Given the description of an element on the screen output the (x, y) to click on. 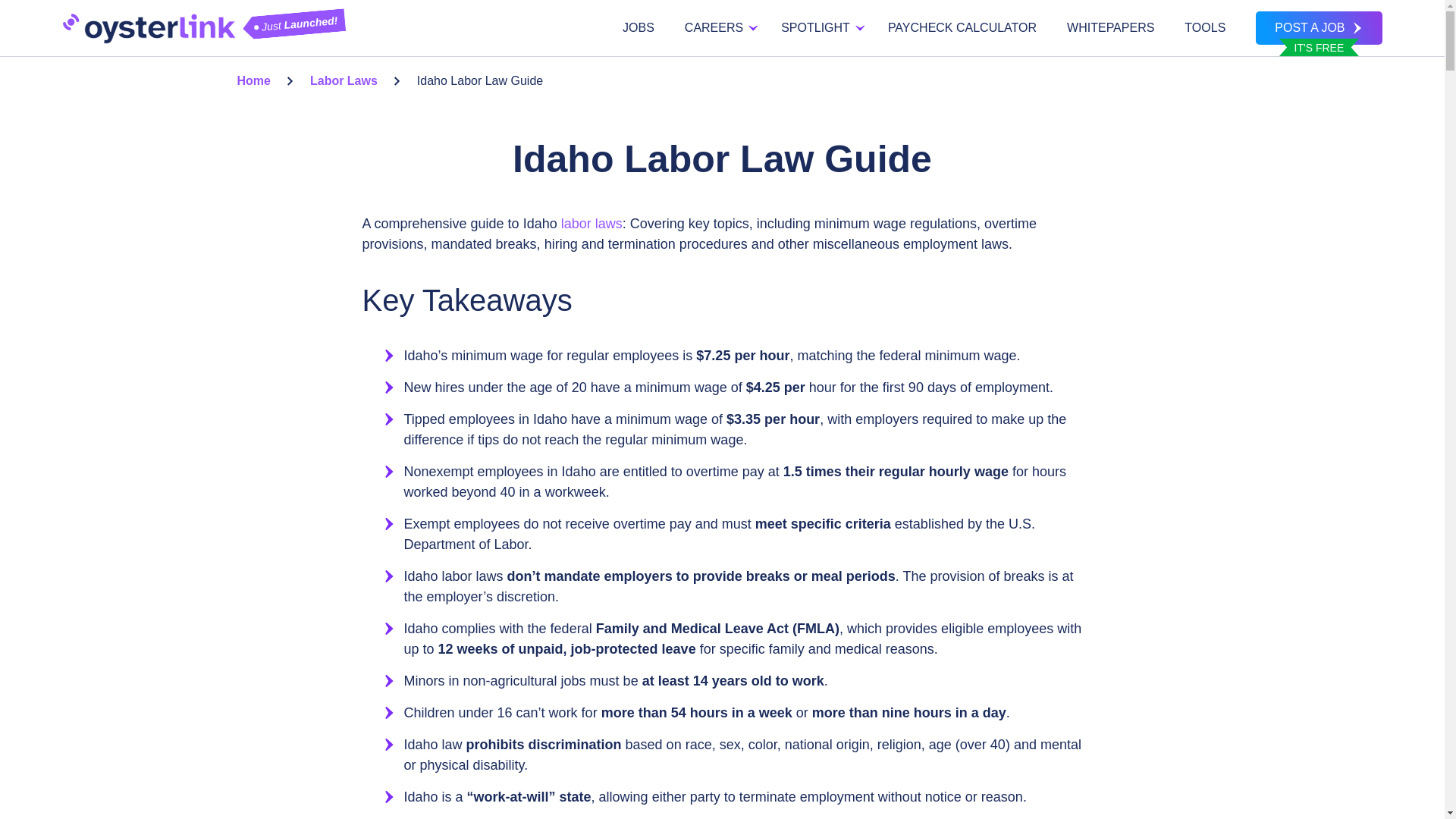
CAREERS (717, 28)
PAYCHECK CALCULATOR (961, 28)
Just Launched! (148, 27)
POST A JOB (1318, 28)
Labor Laws (343, 80)
labor laws (591, 222)
WHITEPAPERS (1110, 28)
POST A JOB (1318, 28)
SPOTLIGHT (818, 28)
JOBS (638, 28)
